Given the description of an element on the screen output the (x, y) to click on. 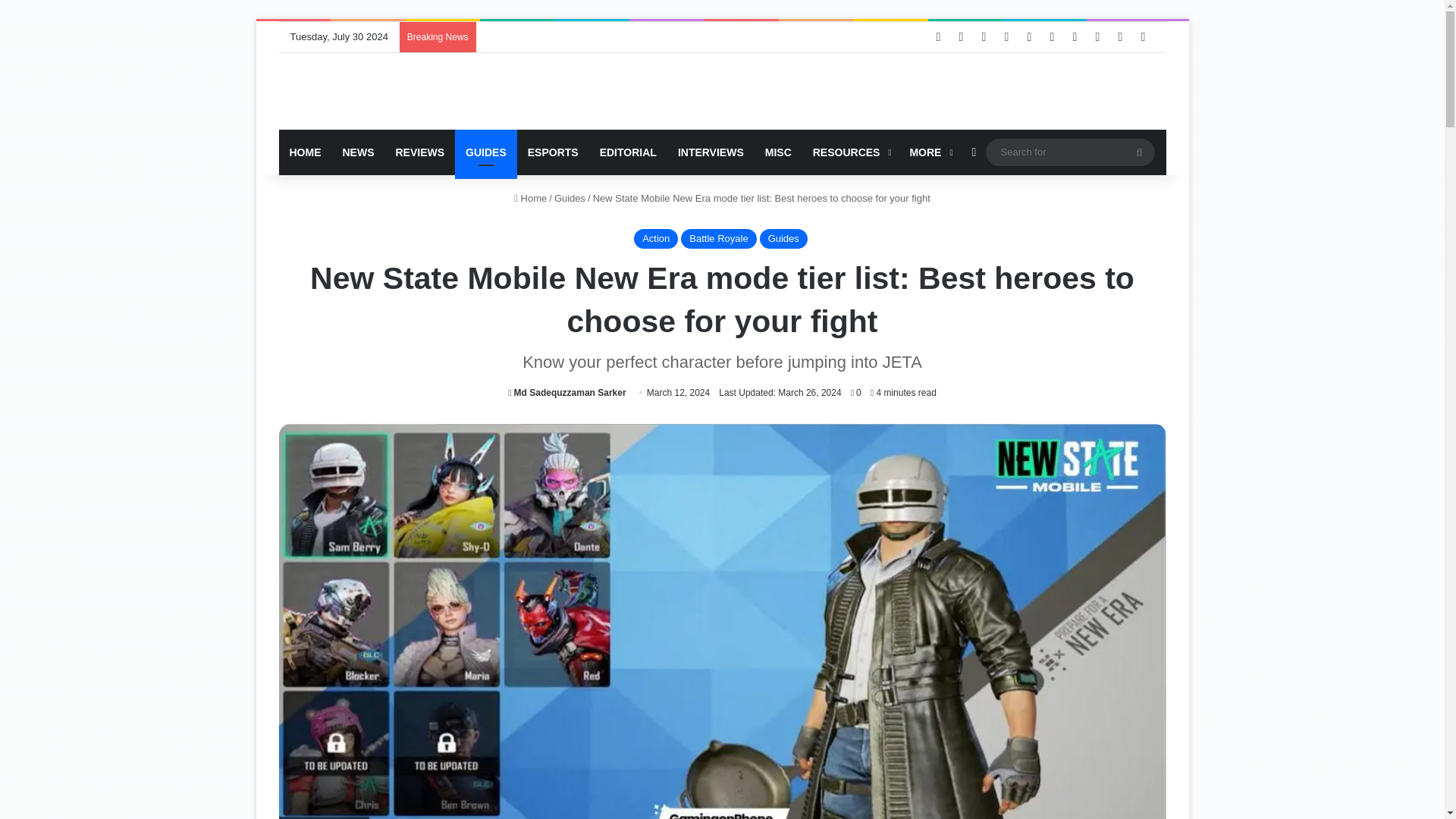
RESOURCES (850, 152)
NEWS (358, 152)
REVIEWS (420, 152)
Search for (1069, 151)
INTERVIEWS (710, 152)
MISC (778, 152)
HOME (305, 152)
EDITORIAL (627, 152)
Md Sadequzzaman Sarker (567, 392)
GUIDES (485, 152)
ESPORTS (552, 152)
MORE (928, 152)
